Given the description of an element on the screen output the (x, y) to click on. 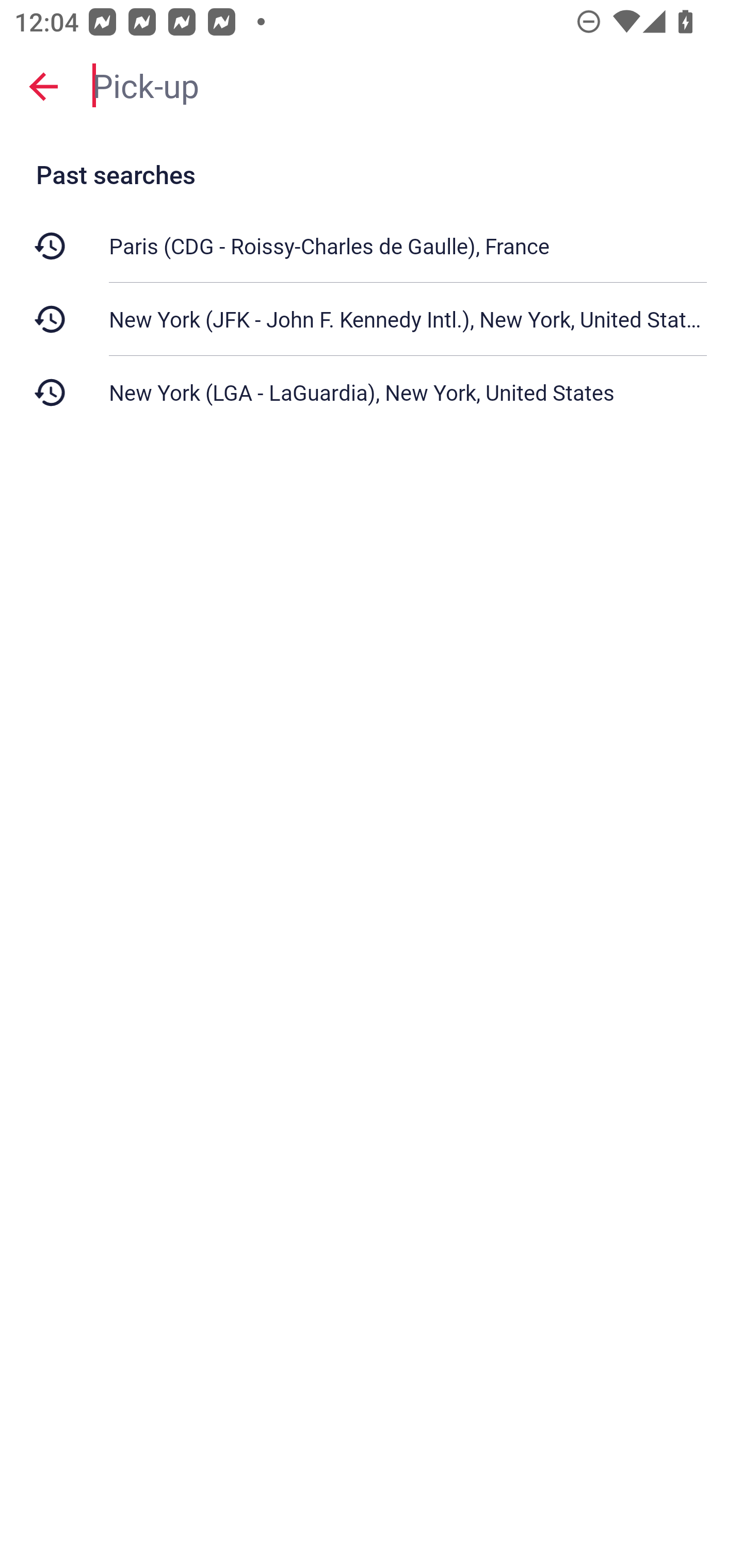
Pick-up,  (407, 85)
Close search screen (43, 86)
